Given the description of an element on the screen output the (x, y) to click on. 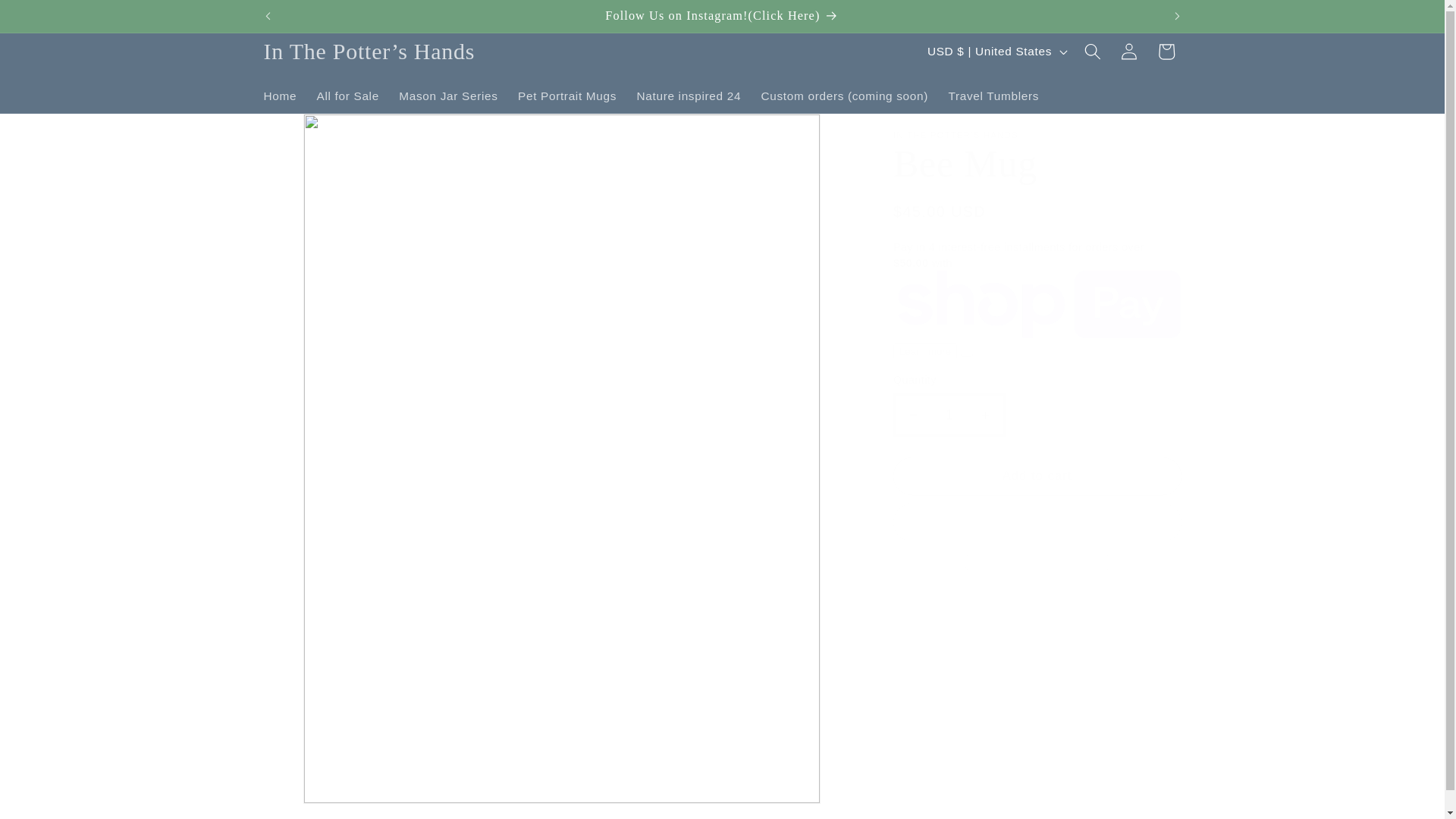
Log in (1128, 51)
Pet Portrait Mugs (567, 95)
Skip to content (49, 18)
Nature inspired 24 (688, 95)
Mason Jar Series (448, 95)
Home (279, 95)
Cart (1166, 51)
Add to cart (1036, 476)
Travel Tumblers (992, 95)
Skip to product information (312, 131)
